Given the description of an element on the screen output the (x, y) to click on. 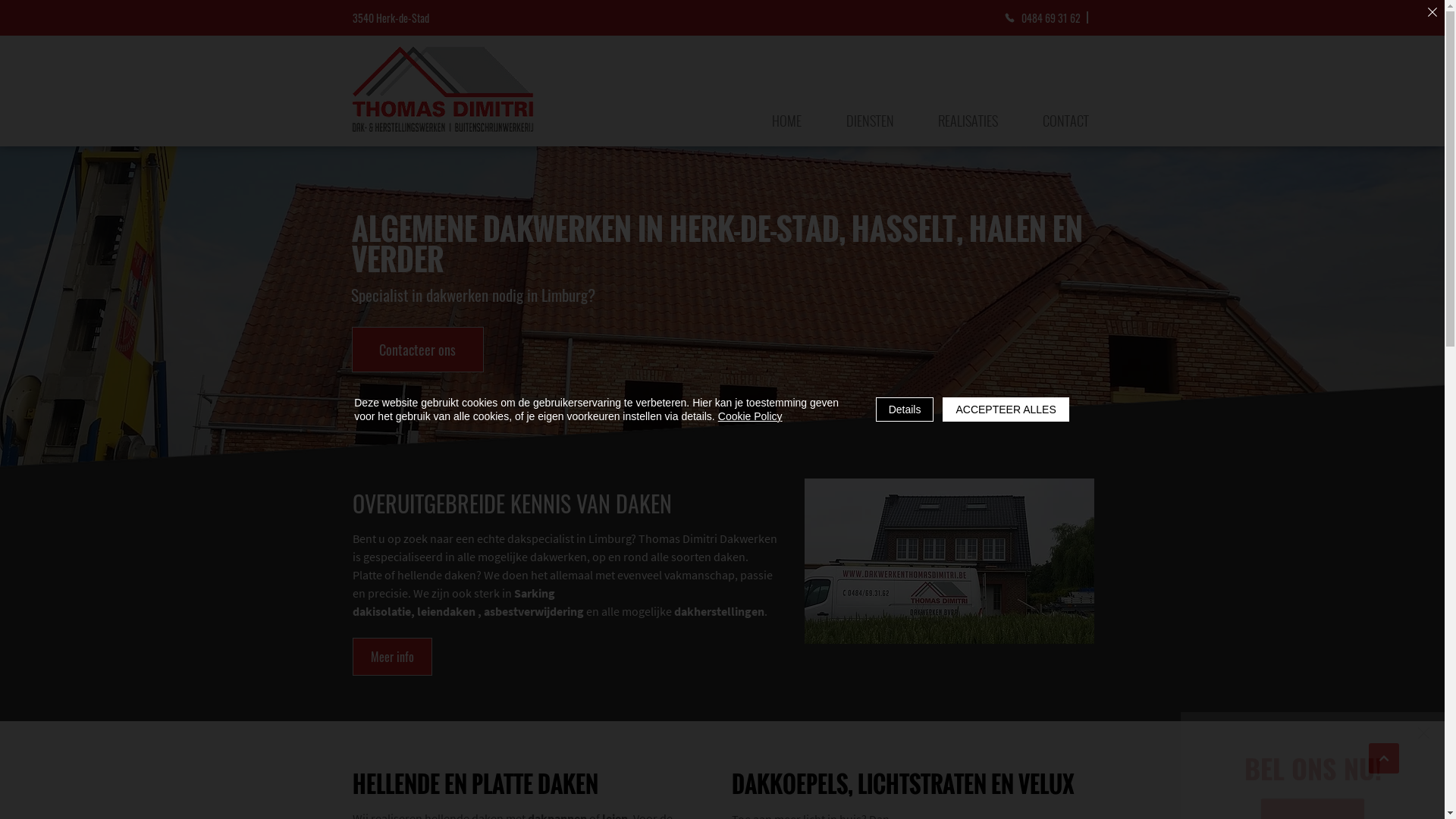
Details Element type: text (1243, 794)
Contacteer ons Element type: text (417, 348)
0484 69 31 62 Element type: text (1046, 17)
leiendaken Element type: text (446, 610)
 Sarking dakisolatie Element type: text (452, 601)
3540 Herk-de-Stad Element type: text (405, 17)
DIENSTEN Element type: text (869, 118)
REALISATIES Element type: text (968, 118)
dakherstellingen Element type: text (718, 610)
Cookie Policy Element type: text (898, 794)
asbestverwijdering  Element type: text (534, 610)
CONTACT Element type: text (1066, 118)
Meer info Element type: text (391, 655)
HOME Element type: text (786, 118)
ACCEPTEER ALLES Element type: text (1345, 794)
